Given the description of an element on the screen output the (x, y) to click on. 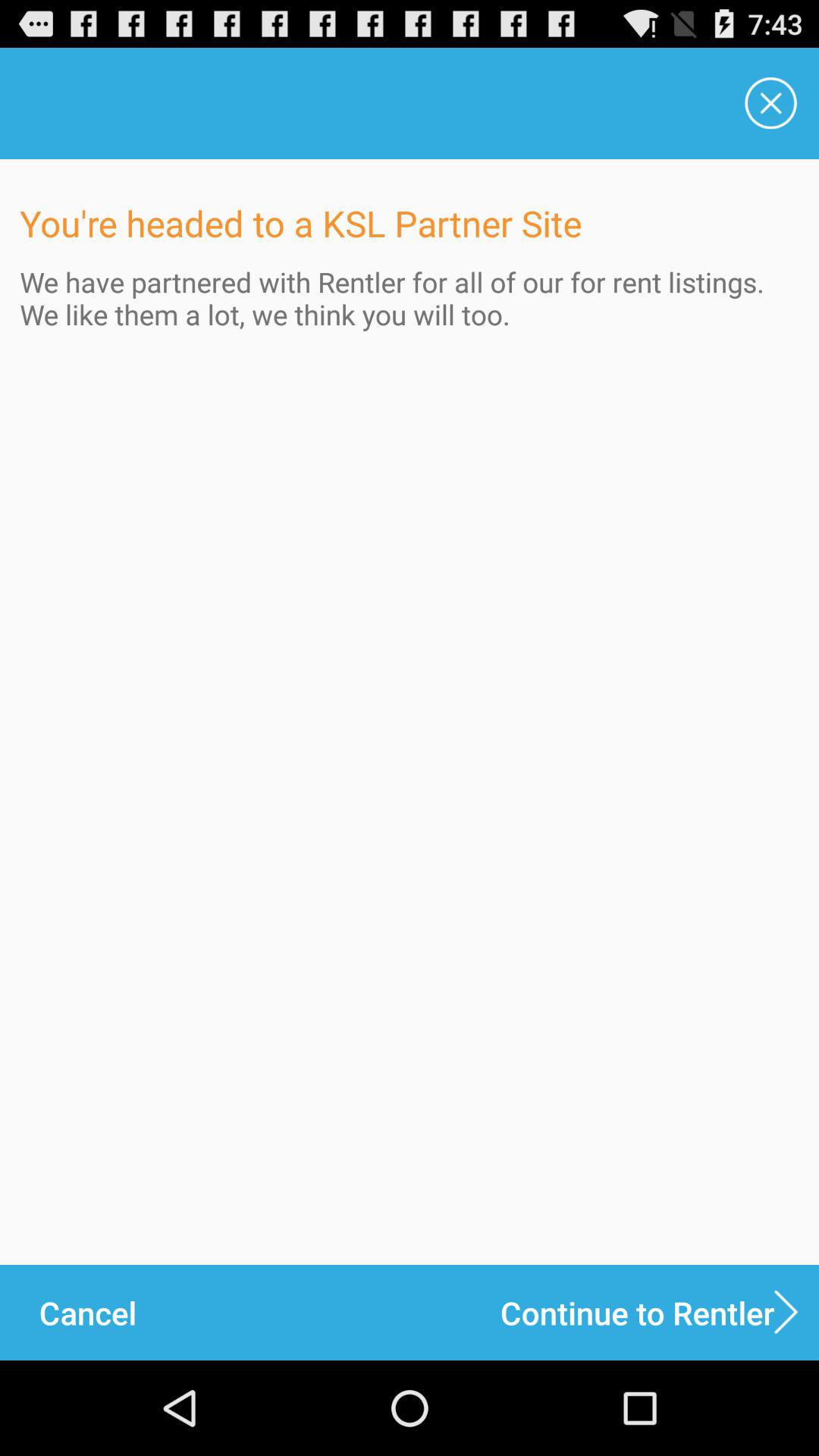
turn on item to the left of continue to rentler item (87, 1312)
